Given the description of an element on the screen output the (x, y) to click on. 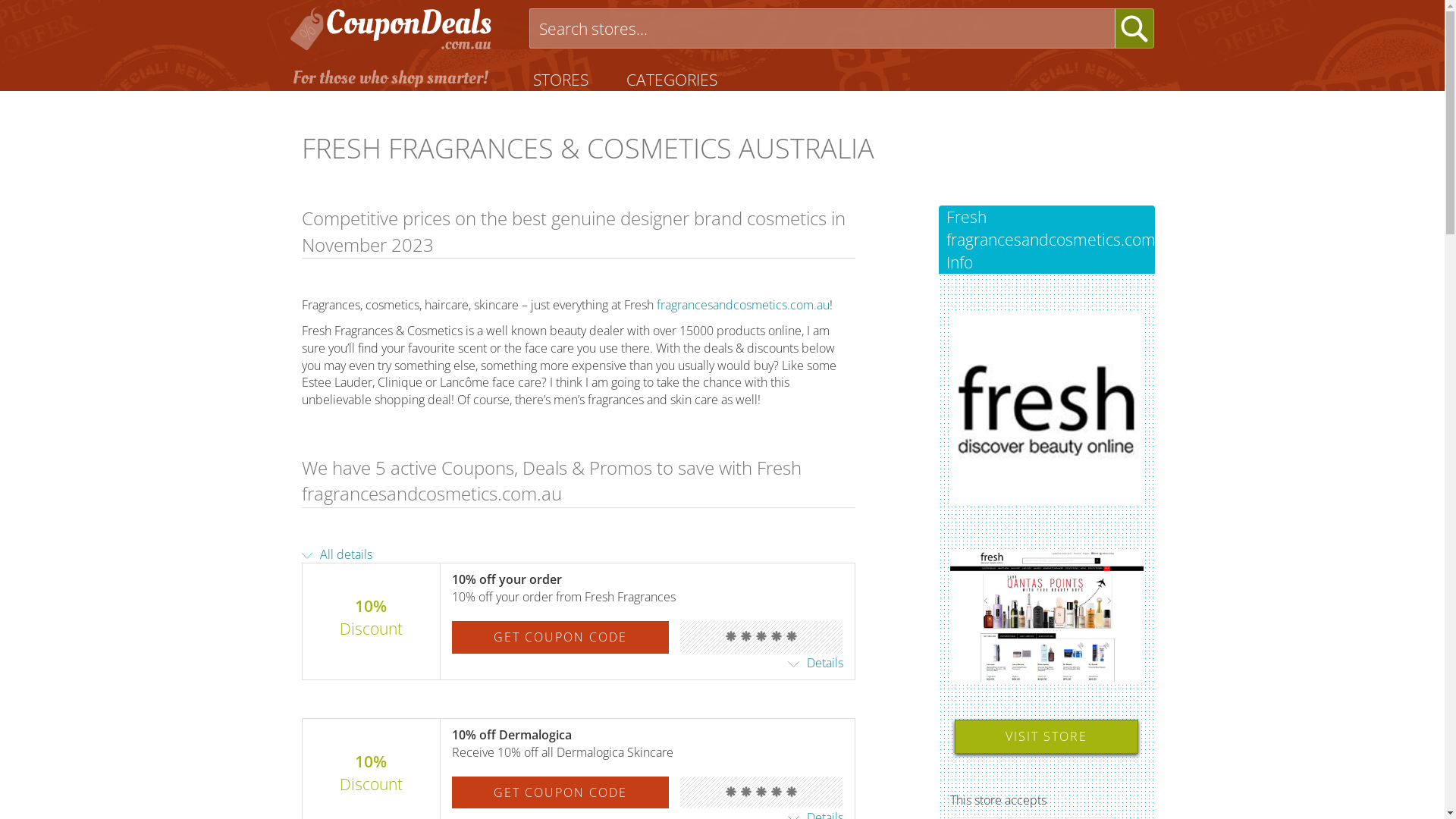
Details Element type: text (815, 662)
STORES Element type: text (560, 79)
fragrancesandcosmetics.com.au Element type: text (742, 304)
GET COUPON CODE Element type: text (559, 637)
VISIT STORE Element type: text (1046, 736)
GET COUPON CODE Element type: text (559, 792)
All details Element type: text (337, 554)
CATEGORIES Element type: text (670, 79)
